Given the description of an element on the screen output the (x, y) to click on. 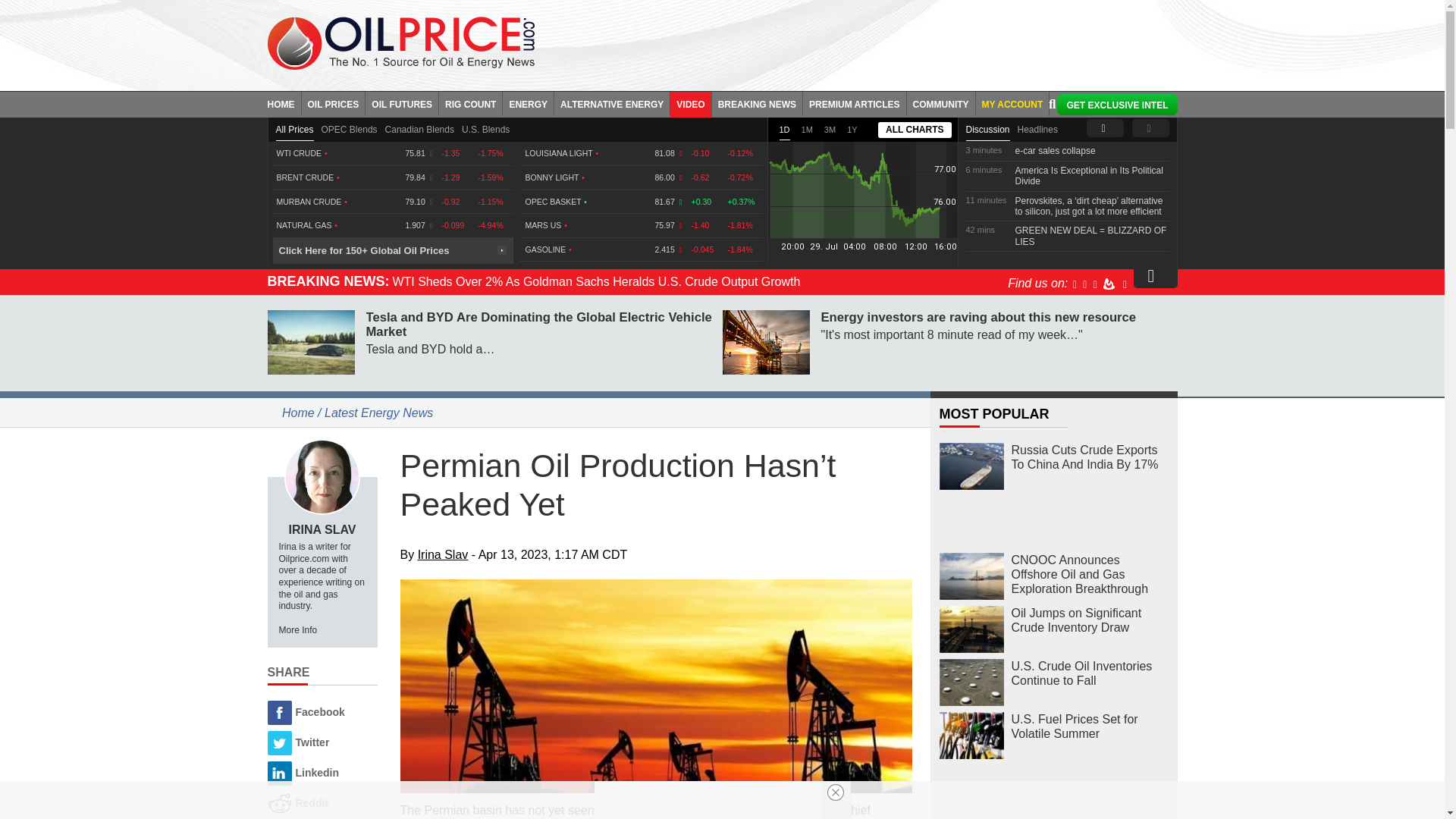
3rd party ad content (866, 41)
VIDEO (690, 103)
RIG COUNT (470, 103)
U.S. Crude Oil Inventories Continue to Fall (971, 682)
3rd party ad content (1053, 799)
Oil prices - Oilprice.com (400, 42)
PREMIUM ARTICLES (855, 103)
MY ACCOUNT (1012, 103)
HOME (283, 103)
ENERGY (528, 103)
COMMUNITY (941, 103)
BREAKING NEWS (757, 103)
U.S. Fuel Prices Set for Volatile Summer (971, 735)
Oil Jumps on Significant Crude Inventory Draw (971, 629)
